Given the description of an element on the screen output the (x, y) to click on. 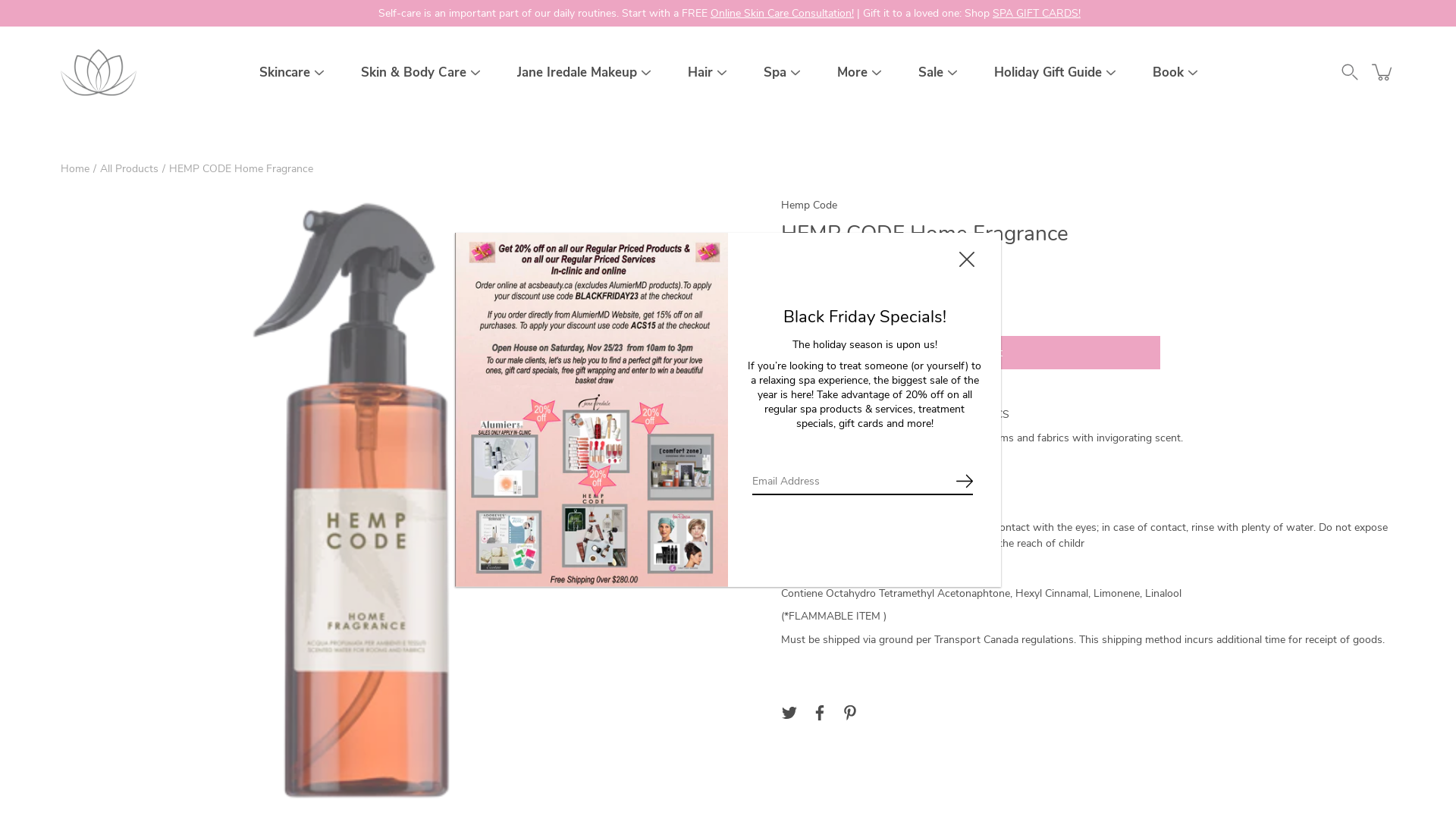
Jane Iredale Makeup Element type: text (577, 71)
Skin & Body Care Element type: text (413, 71)
Home Element type: text (74, 168)
SPA GIFT CARDS! Element type: text (1036, 13)
All Products Element type: text (129, 168)
Spa Element type: text (773, 71)
Hair Element type: text (699, 71)
Skincare Element type: text (284, 71)
Sale Element type: text (929, 71)
Holiday Gift Guide Element type: text (1047, 71)
Book Element type: text (1167, 71)
More Element type: text (852, 71)
Online Skin Care Consultation! Element type: text (781, 13)
Add To Cart Element type: text (970, 352)
